Given the description of an element on the screen output the (x, y) to click on. 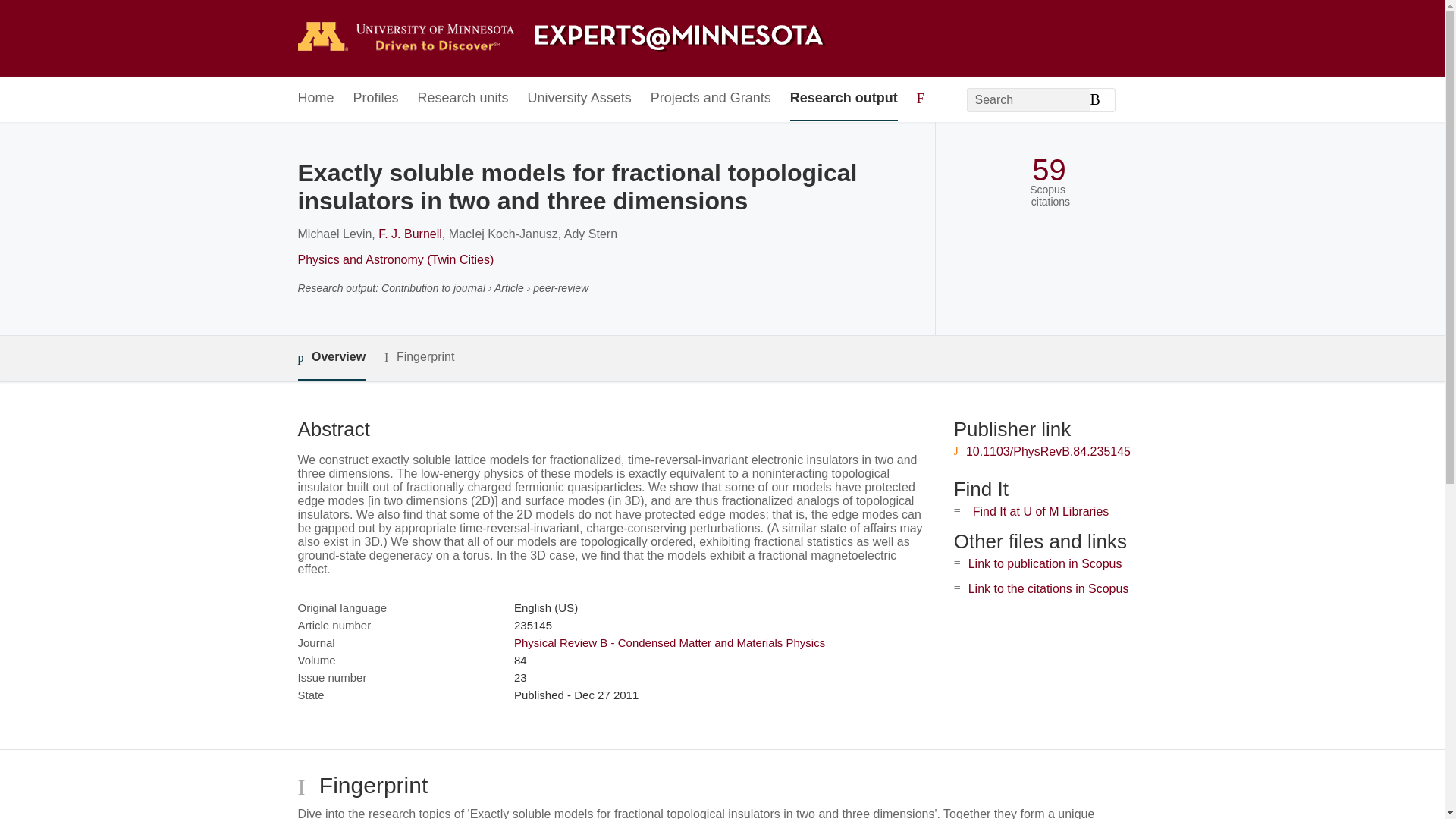
Fingerprint (419, 357)
Find It at U of M Libraries (1040, 511)
Link to the citations in Scopus (1048, 588)
Projects and Grants (710, 98)
Overview (331, 357)
Research output (844, 98)
Physical Review B - Condensed Matter and Materials Physics (669, 642)
59 (1048, 170)
F. J. Burnell (410, 233)
University Assets (579, 98)
Research units (462, 98)
Link to publication in Scopus (1045, 563)
Profiles (375, 98)
